Given the description of an element on the screen output the (x, y) to click on. 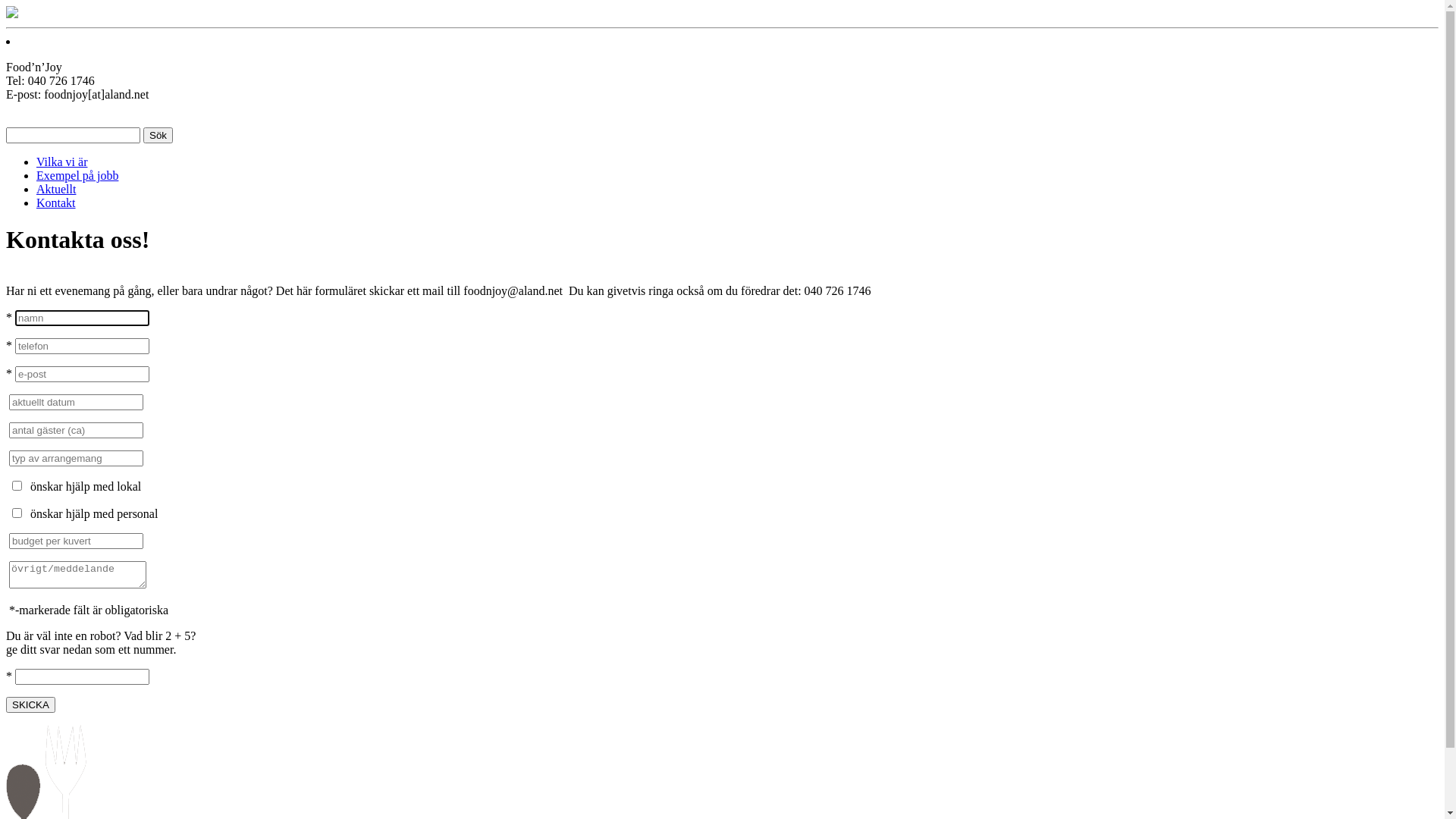
SKICKA Element type: text (30, 704)
Aktuellt Element type: text (55, 188)
Kontakt Element type: text (55, 202)
